Given the description of an element on the screen output the (x, y) to click on. 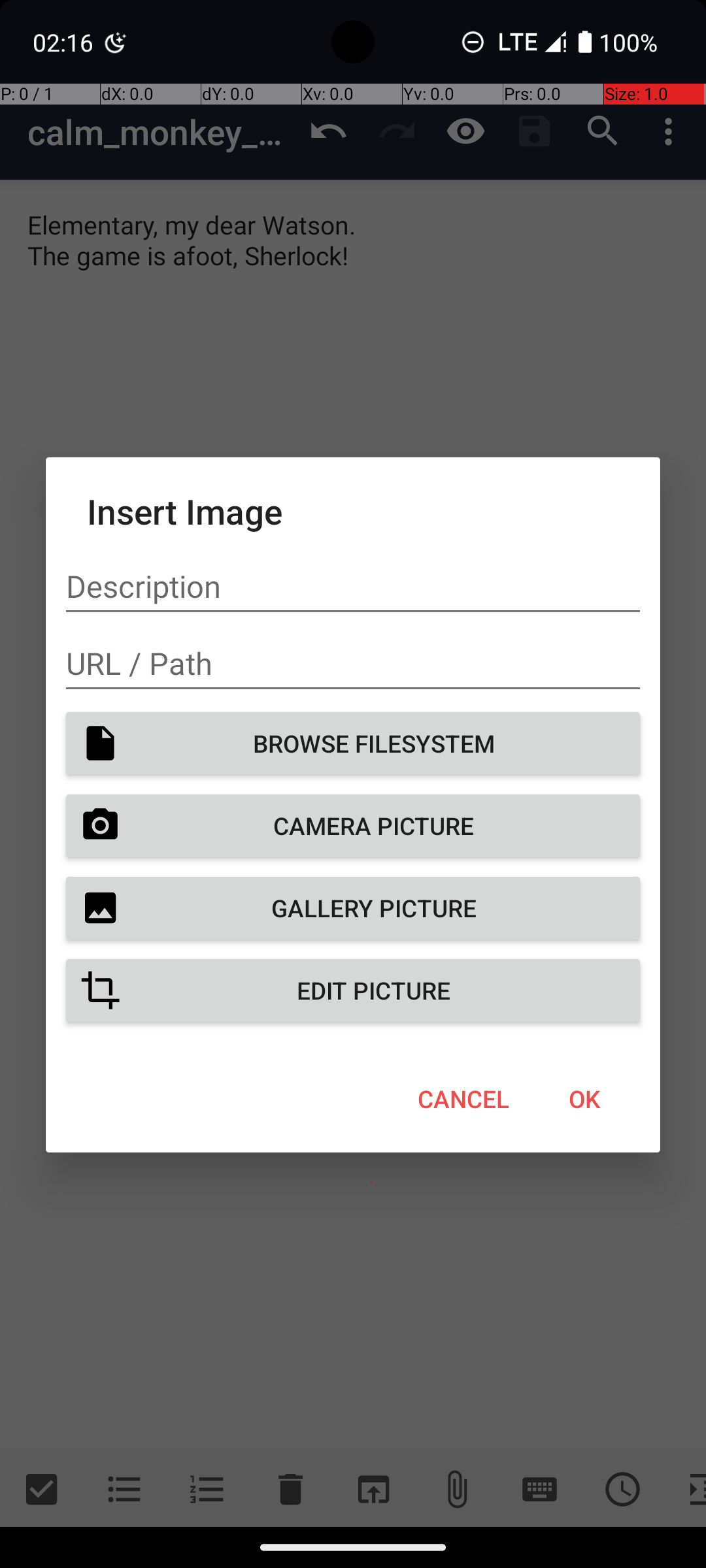
Insert Image Element type: android.widget.TextView (352, 511)
URL / Path Element type: android.widget.EditText (352, 663)
BROWSE FILESYSTEM Element type: android.widget.Button (352, 743)
CAMERA PICTURE Element type: android.widget.Button (352, 825)
GALLERY PICTURE Element type: android.widget.Button (352, 907)
EDIT PICTURE Element type: android.widget.Button (352, 990)
02:16 Element type: android.widget.TextView (64, 41)
Digital Wellbeing notification: Bedtime mode is on Element type: android.widget.ImageView (115, 41)
